Given the description of an element on the screen output the (x, y) to click on. 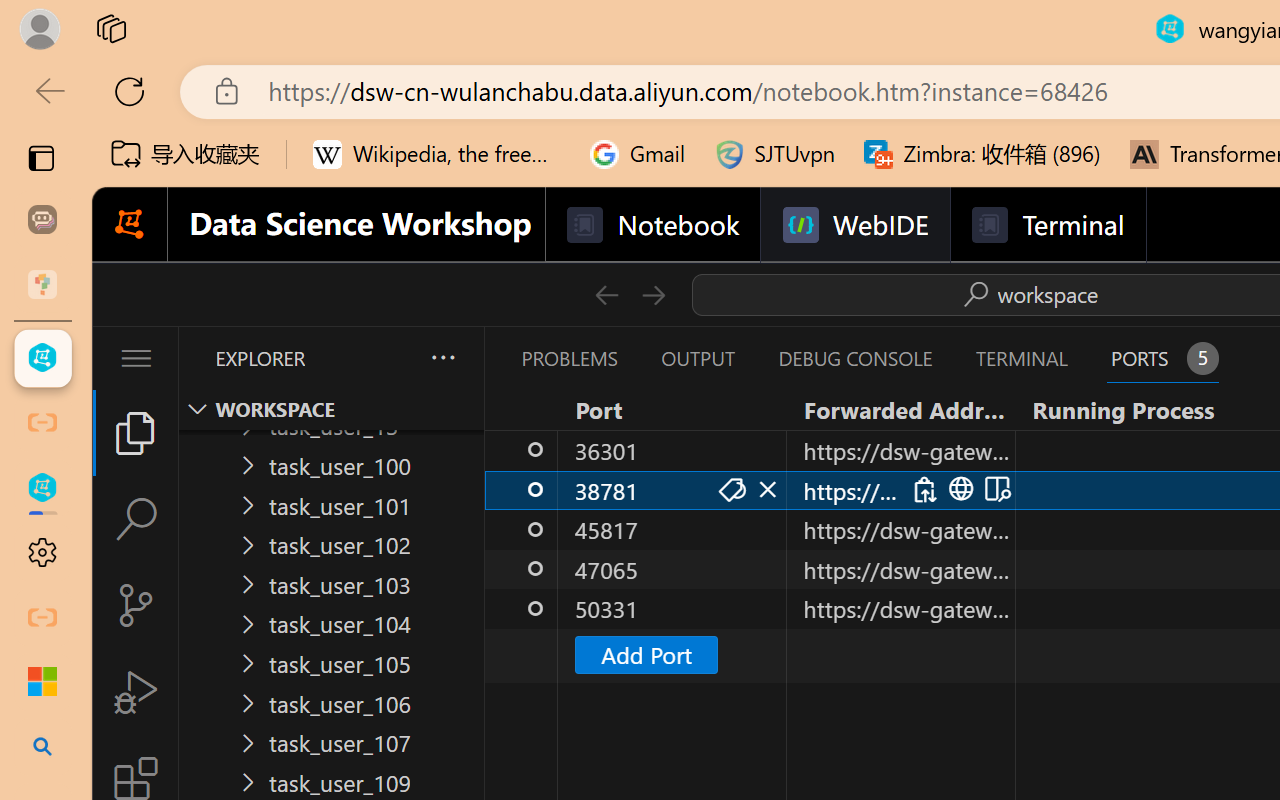
Preview in Editor (994, 489)
Terminal (Ctrl+`) (1021, 358)
Wikipedia, the free encyclopedia (437, 154)
Microsoft security help and learning (42, 681)
Explorer actions (390, 358)
Output (Ctrl+Shift+U) (696, 358)
Gmail (637, 154)
wangyian_dsw - DSW (42, 357)
wangyian_webcrawler - DSW (42, 487)
Search (Ctrl+Shift+F) (135, 519)
SJTUvpn (774, 154)
